Given the description of an element on the screen output the (x, y) to click on. 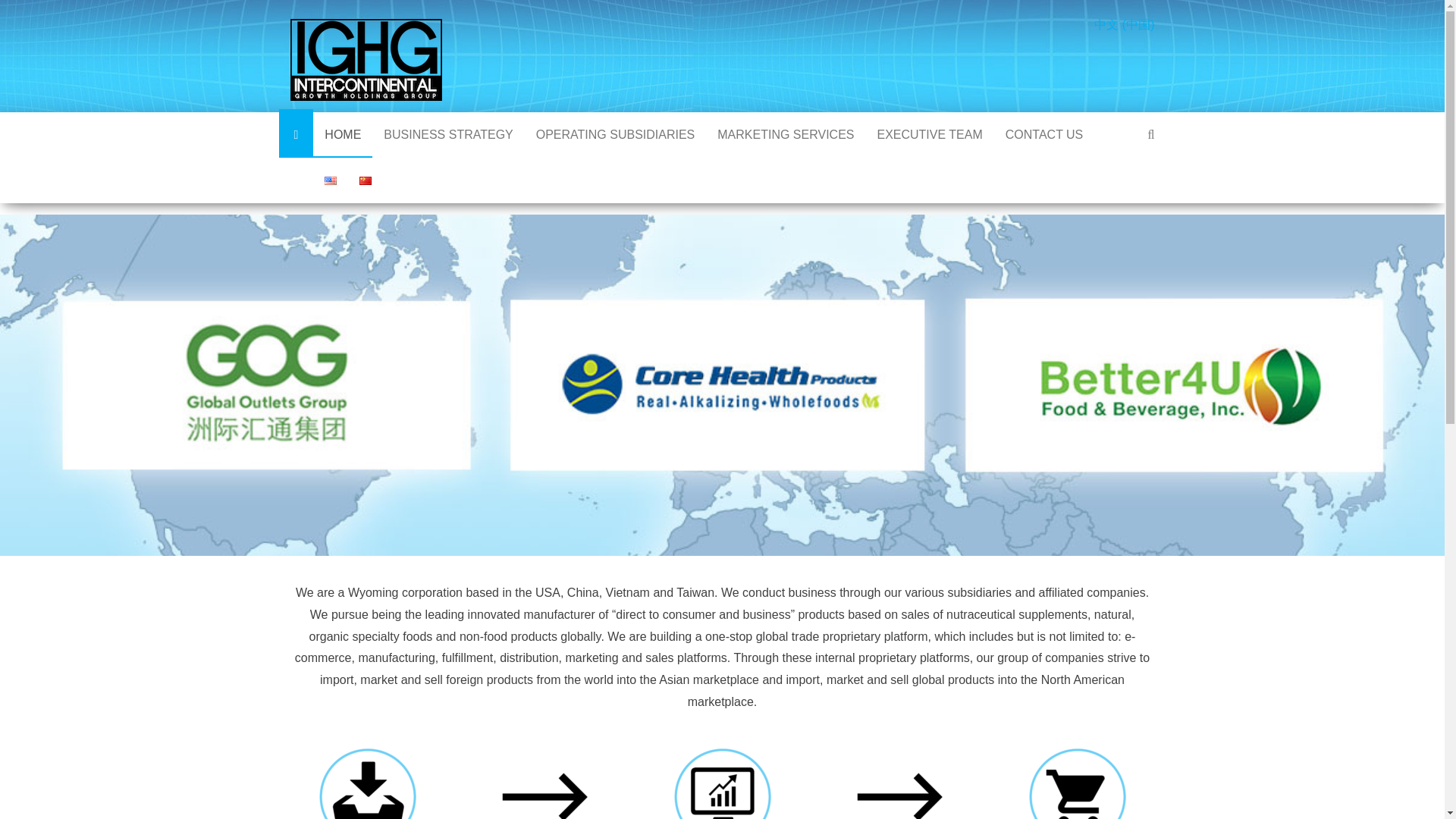
EXECUTIVE TEAM (928, 135)
Contact Us (1044, 135)
HOME (342, 135)
OPERATING SUBSIDIARIES (615, 135)
MARKETING SERVICES (785, 135)
Operating Subsidiaries (615, 135)
CONTACT US (1044, 135)
Home (342, 135)
Business Strategy (448, 135)
Marketing Services (785, 135)
BUSINESS STRATEGY (448, 135)
Executive Team (928, 135)
